Given the description of an element on the screen output the (x, y) to click on. 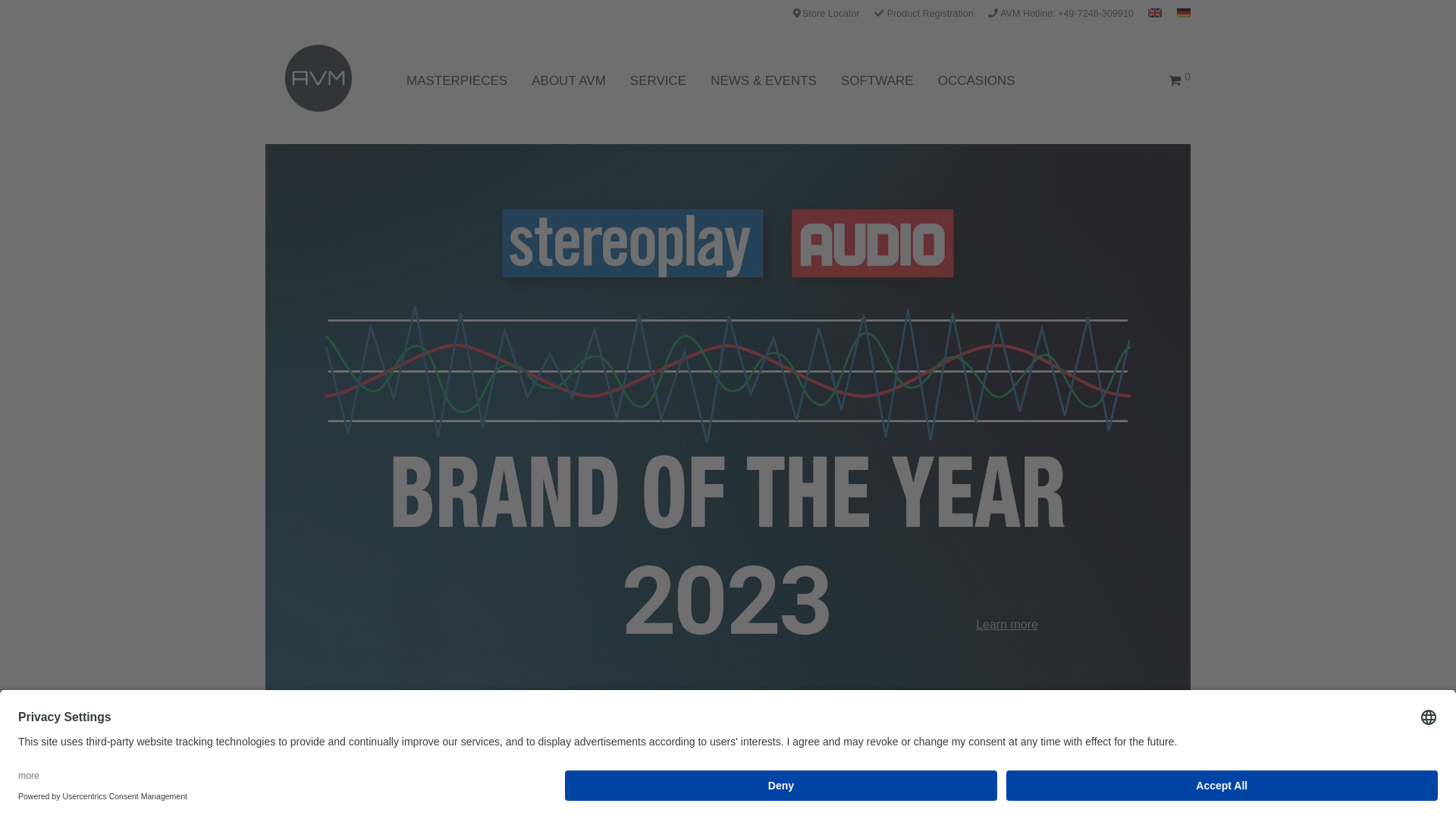
Store Locator Element type: text (826, 13)
Media & CD Player Element type: text (714, 746)
All-In-One Element type: text (417, 746)
Accessories Element type: text (928, 746)
Turntables Element type: text (831, 746)
Search Element type: text (1161, 747)
SERVICE Element type: text (658, 80)
All Element type: text (272, 746)
Amplifier Element type: text (501, 746)
AVM Hotline: +49-7246-309910 Element type: text (1060, 13)
MASTERPIECES Element type: text (456, 80)
Learn more Element type: text (727, 418)
NEWS & EVENTS Element type: text (763, 80)
Speaker Element type: text (332, 746)
Preamplifier Element type: text (591, 746)
OCCASIONS Element type: text (976, 80)
ABOUT AVM Element type: text (568, 80)
0 Element type: text (1179, 80)
Product Registration Element type: text (923, 13)
SOFTWARE Element type: text (876, 80)
